Given the description of an element on the screen output the (x, y) to click on. 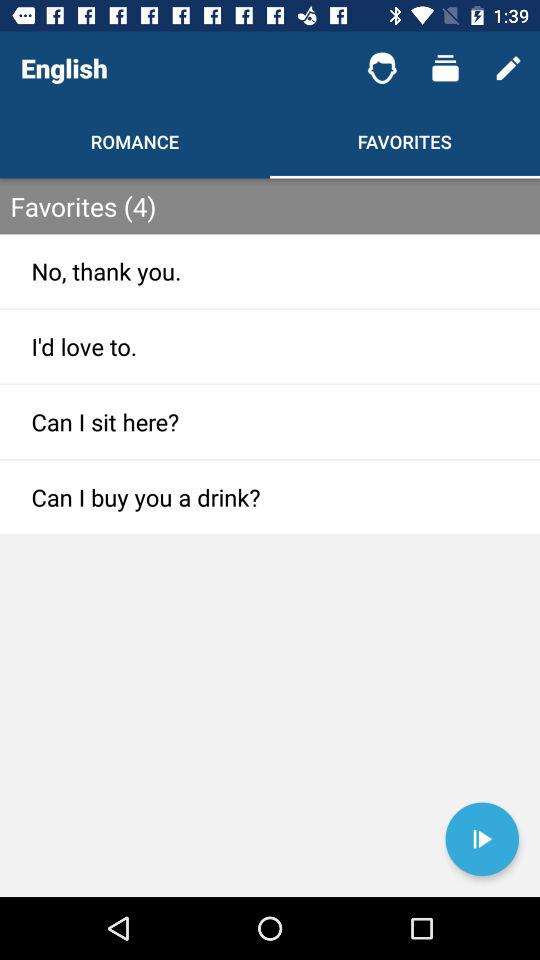
click the item next to english icon (381, 67)
